Given the description of an element on the screen output the (x, y) to click on. 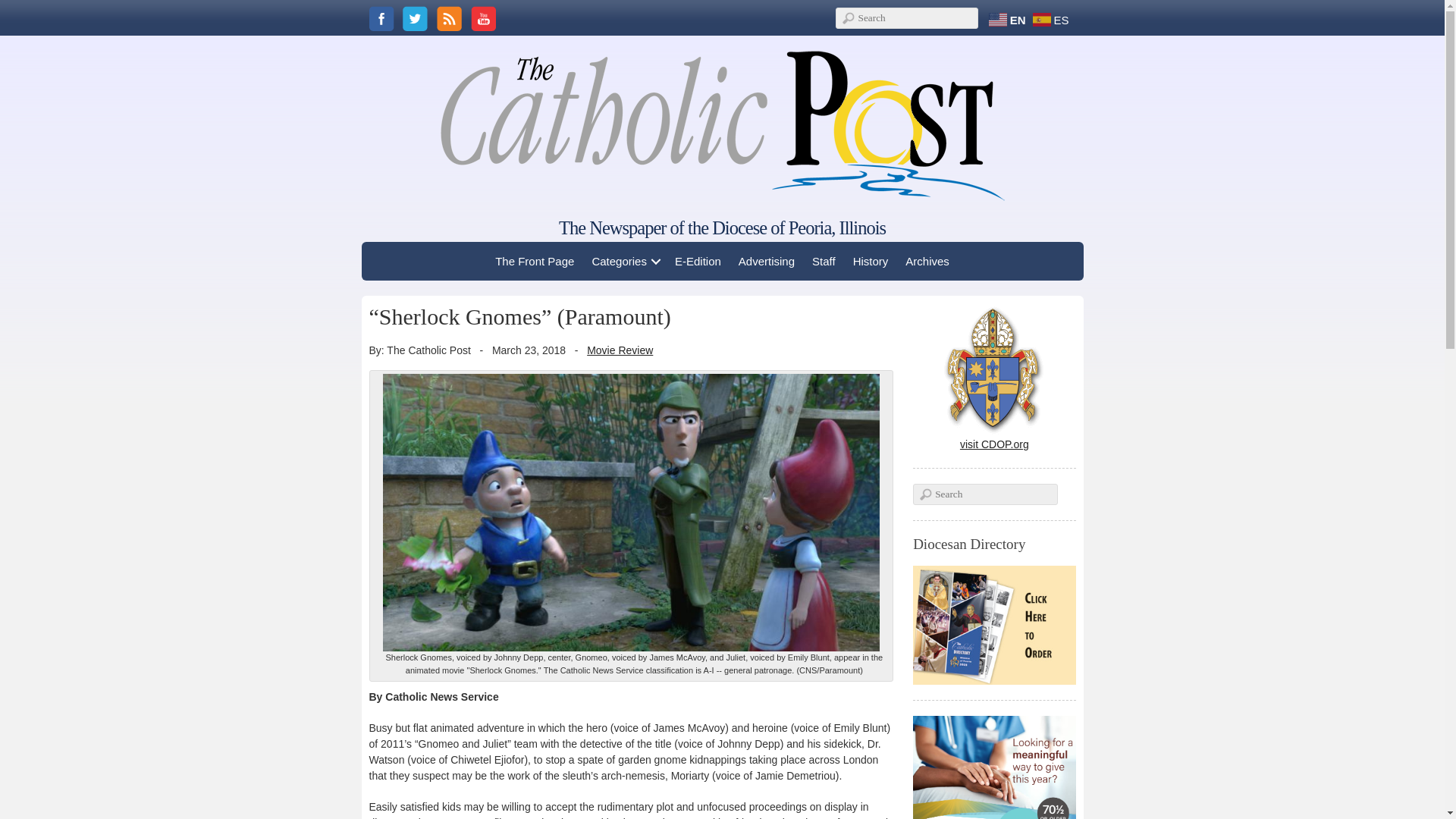
ES (1052, 19)
The Newspaper of the Diocese of Peoria, Illinois (722, 227)
Staff (823, 261)
Diocesan Directory (993, 624)
English (1008, 19)
visit CDOP.org (994, 438)
The Front Page (534, 261)
Archives (927, 261)
visit CDOP.org (994, 438)
Advertising (766, 261)
